Given the description of an element on the screen output the (x, y) to click on. 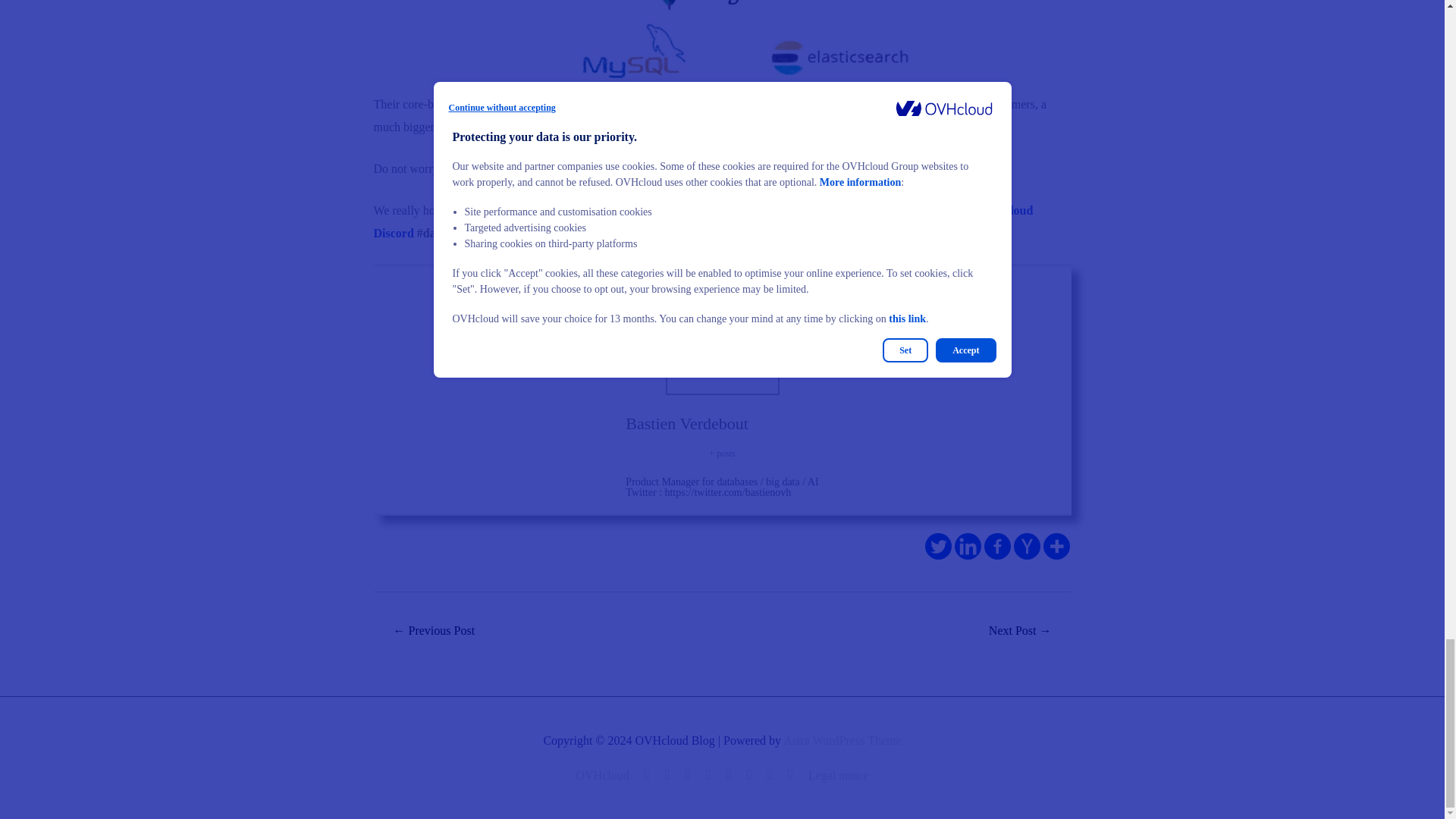
Linkedin (966, 546)
Twitter (647, 775)
Cloud pricing and transparency: key points to consider (1020, 632)
OVHcloud Discord (702, 221)
More (1056, 546)
OVHcloud (605, 775)
Facebook (997, 546)
Twitter (938, 546)
Astra WordPress Theme (842, 739)
Bastien Verdebout (687, 423)
LinkedIn (668, 775)
